Given the description of an element on the screen output the (x, y) to click on. 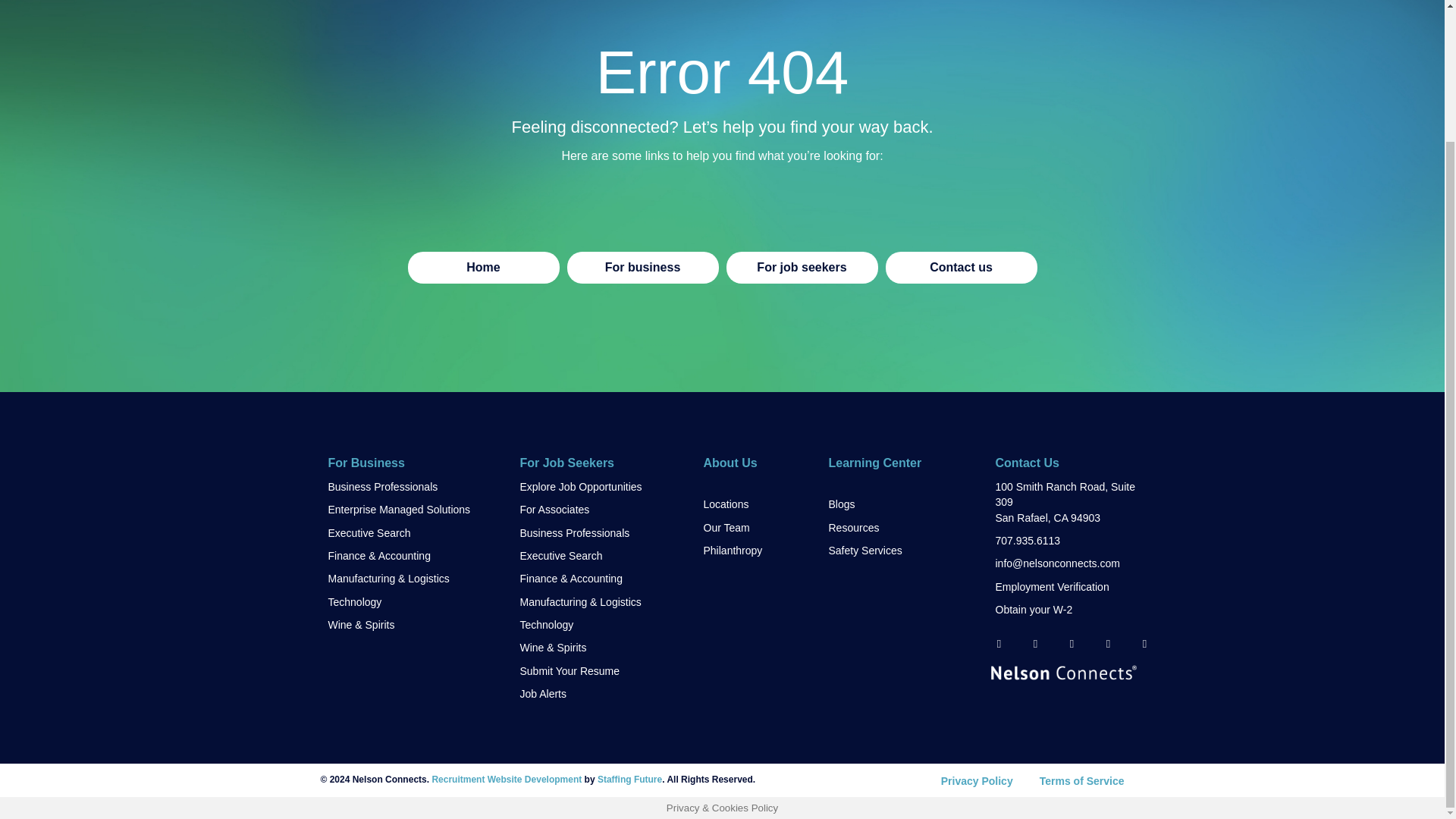
Email (998, 643)
Instagram (1144, 643)
